Given the description of an element on the screen output the (x, y) to click on. 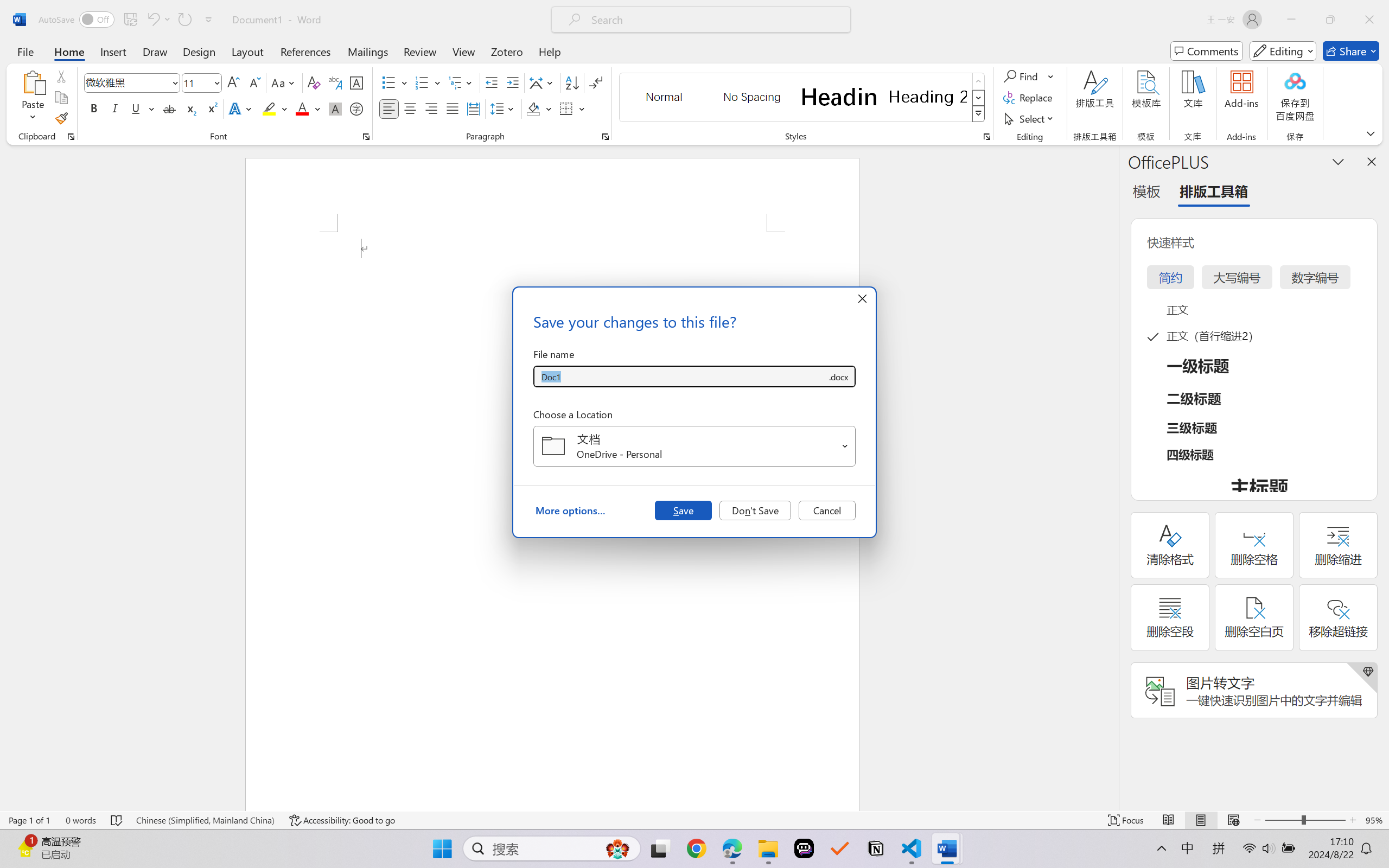
Microsoft search (715, 19)
